Given the description of an element on the screen output the (x, y) to click on. 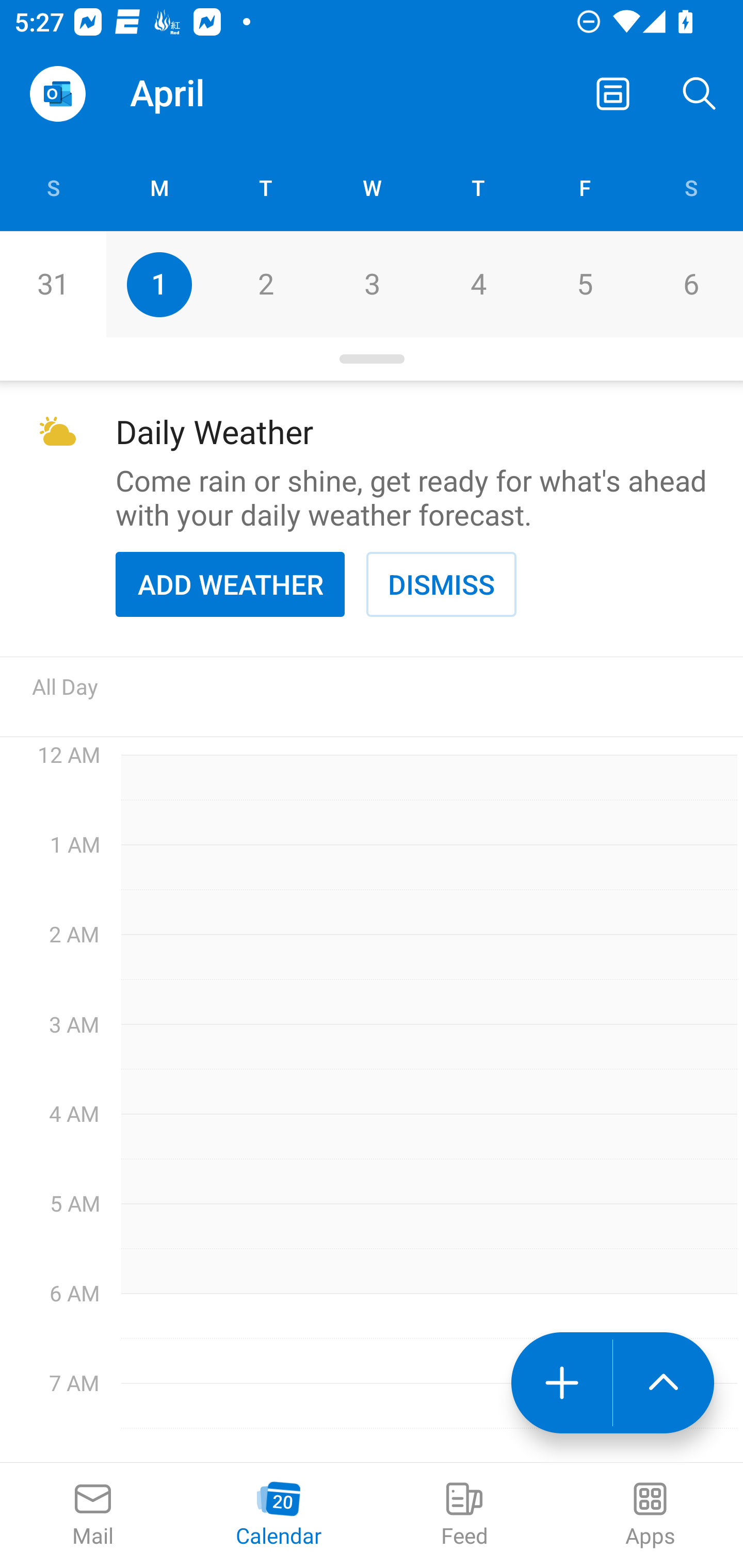
April April 2024, day picker (209, 93)
Switch away from Day view (612, 93)
Search, ,  (699, 93)
Open Navigation Drawer (57, 94)
31 Sunday, March 31 (53, 284)
1 Monday, April 1, Selected (159, 284)
2 Tuesday, April 2 (265, 284)
3 Wednesday, April 3 (371, 284)
4 Thursday, April 4 (477, 284)
5 Friday, April 5 (584, 284)
6 Saturday, April 6 (690, 284)
Day picker (371, 359)
ADD WEATHER (230, 583)
DISMISS (440, 583)
New event (561, 1382)
launch the extended action menu (663, 1382)
Mail (92, 1515)
Feed (464, 1515)
Apps (650, 1515)
